Given the description of an element on the screen output the (x, y) to click on. 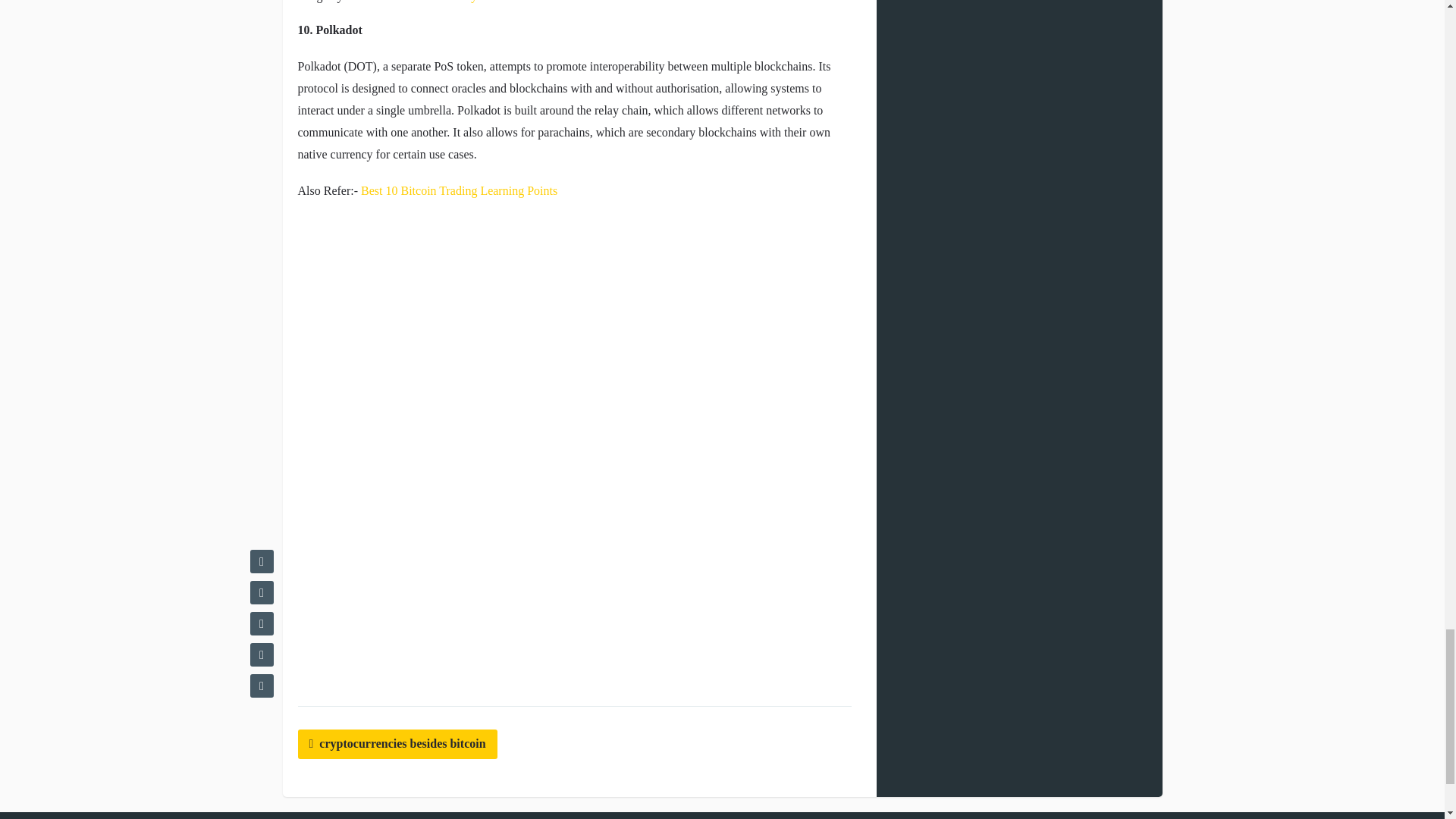
Best 10 Bitcoin Trading Learning Points (459, 190)
Tamim Tarin (376, 1)
cryptocurrencies besides bitcoin (396, 744)
Pixabay (457, 1)
